Given the description of an element on the screen output the (x, y) to click on. 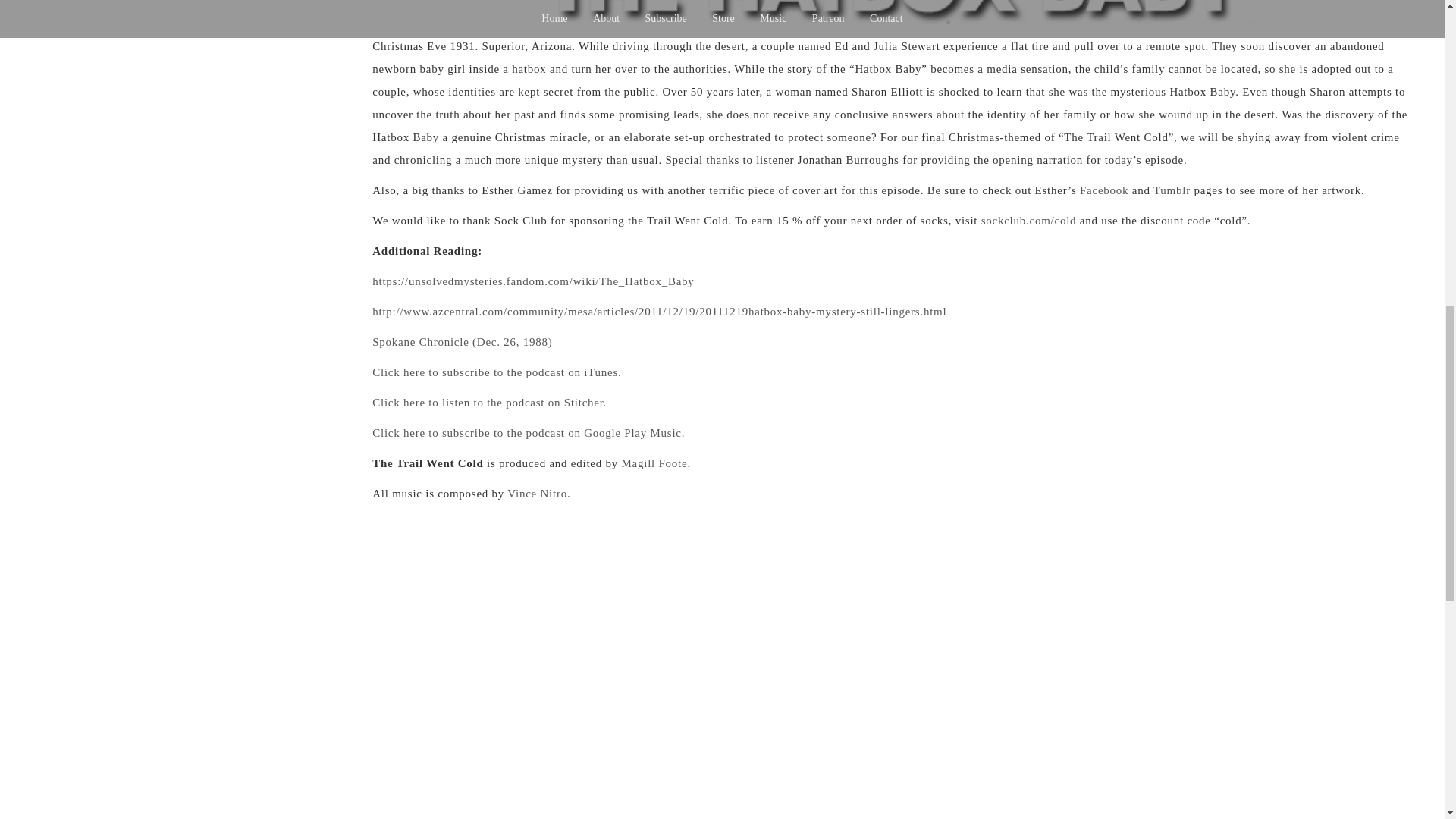
Click here to subscribe to the podcast on Google Play Music. (528, 432)
Click here to subscribe to the podcast on iTunes. (496, 372)
Click here to listen to the podcast on Stitcher. (489, 402)
Facebook (1104, 190)
Tumblr (1172, 190)
